Given the description of an element on the screen output the (x, y) to click on. 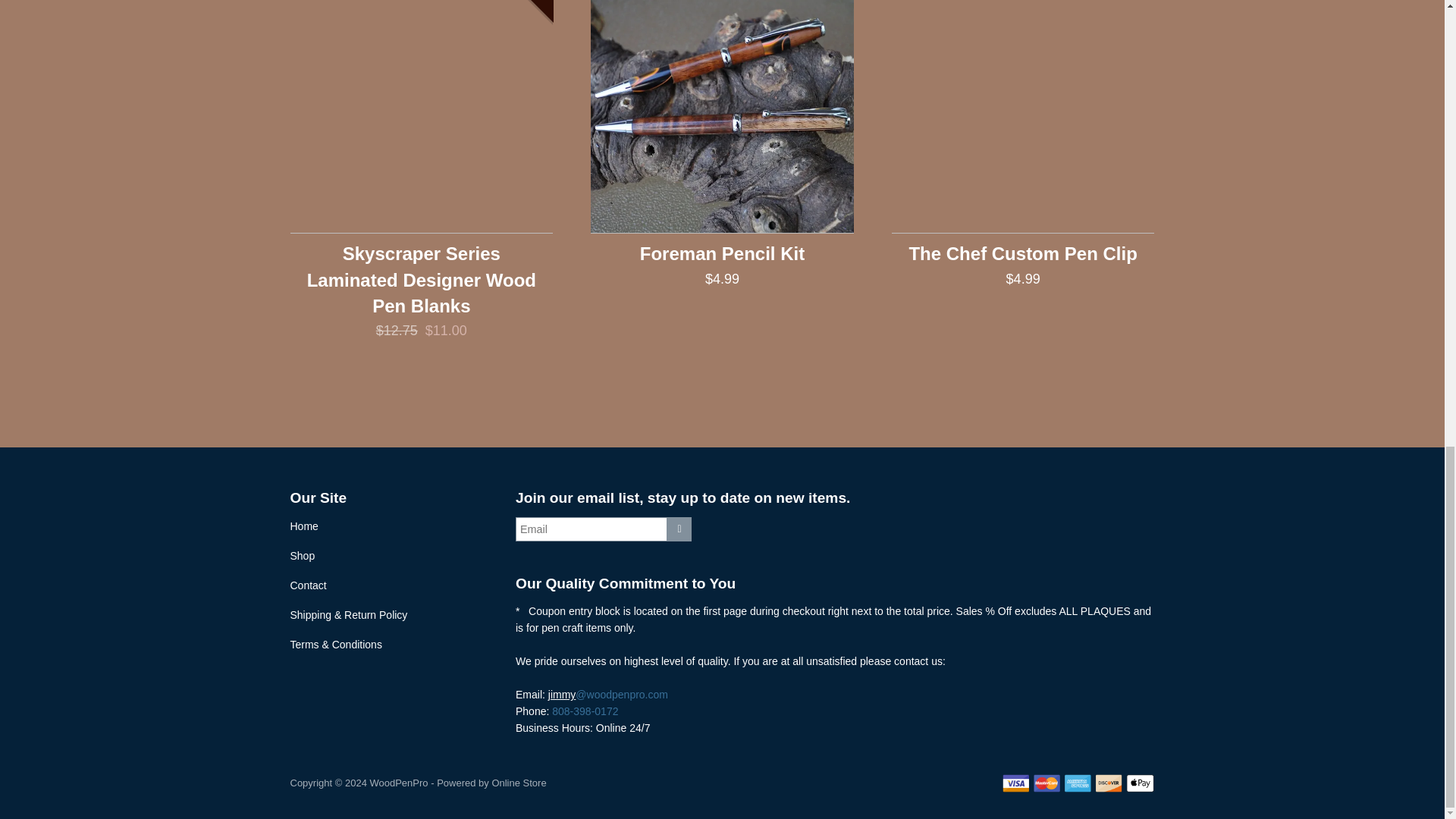
Contact (307, 585)
Powered by Online Store (491, 782)
Shop (301, 555)
808-398-0172 (584, 711)
Home (303, 526)
